Given the description of an element on the screen output the (x, y) to click on. 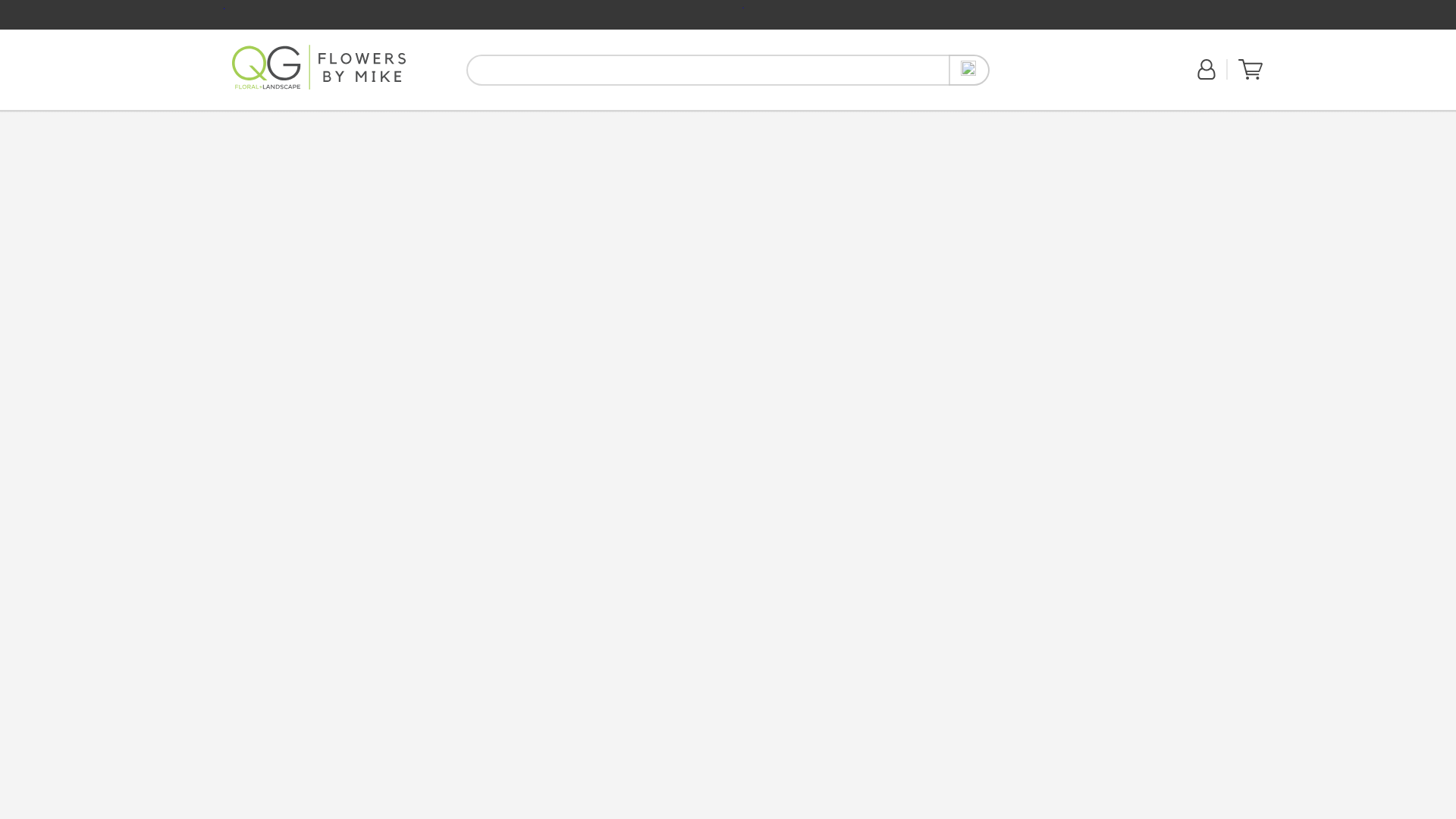
Birthday (295, 118)
View Your Shopping Cart (1250, 76)
Set ZIP Code (1044, 78)
Occasions (439, 119)
Just Because (343, 118)
Sympathy (392, 118)
Search (969, 69)
View Your Shopping Cart (1250, 69)
Back to the Home Page (318, 70)
